Given the description of an element on the screen output the (x, y) to click on. 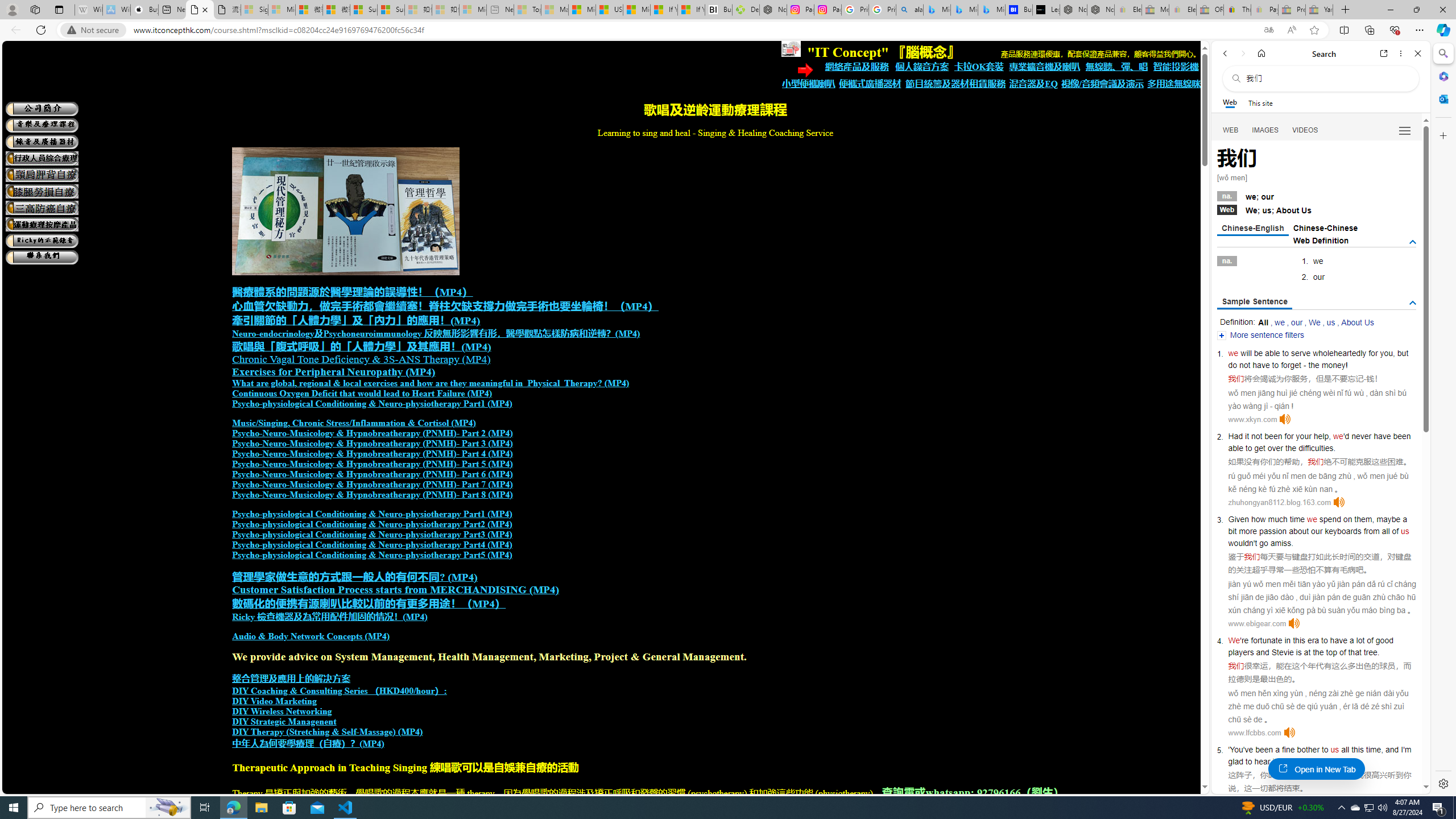
About (1287, 209)
www.lfcbbs.com (1254, 732)
Top Stories - MSN - Sleeping (527, 9)
maybe (1387, 519)
Given (1238, 519)
. (1330, 760)
